Given the description of an element on the screen output the (x, y) to click on. 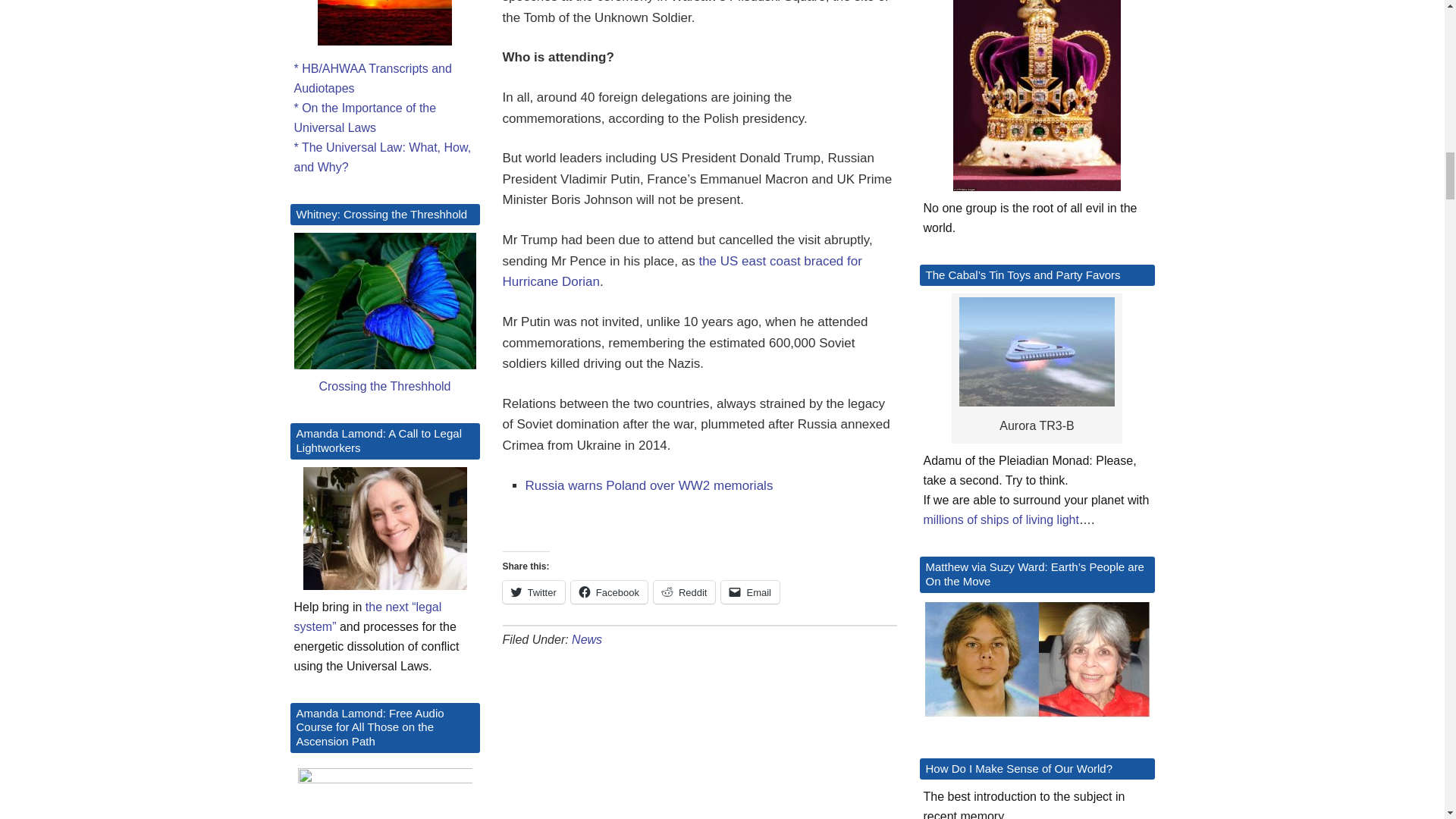
Click to share on Twitter (533, 591)
Click to email a link to a friend (749, 591)
Click to share on Facebook (608, 591)
Click to share on Reddit (684, 591)
